Given the description of an element on the screen output the (x, y) to click on. 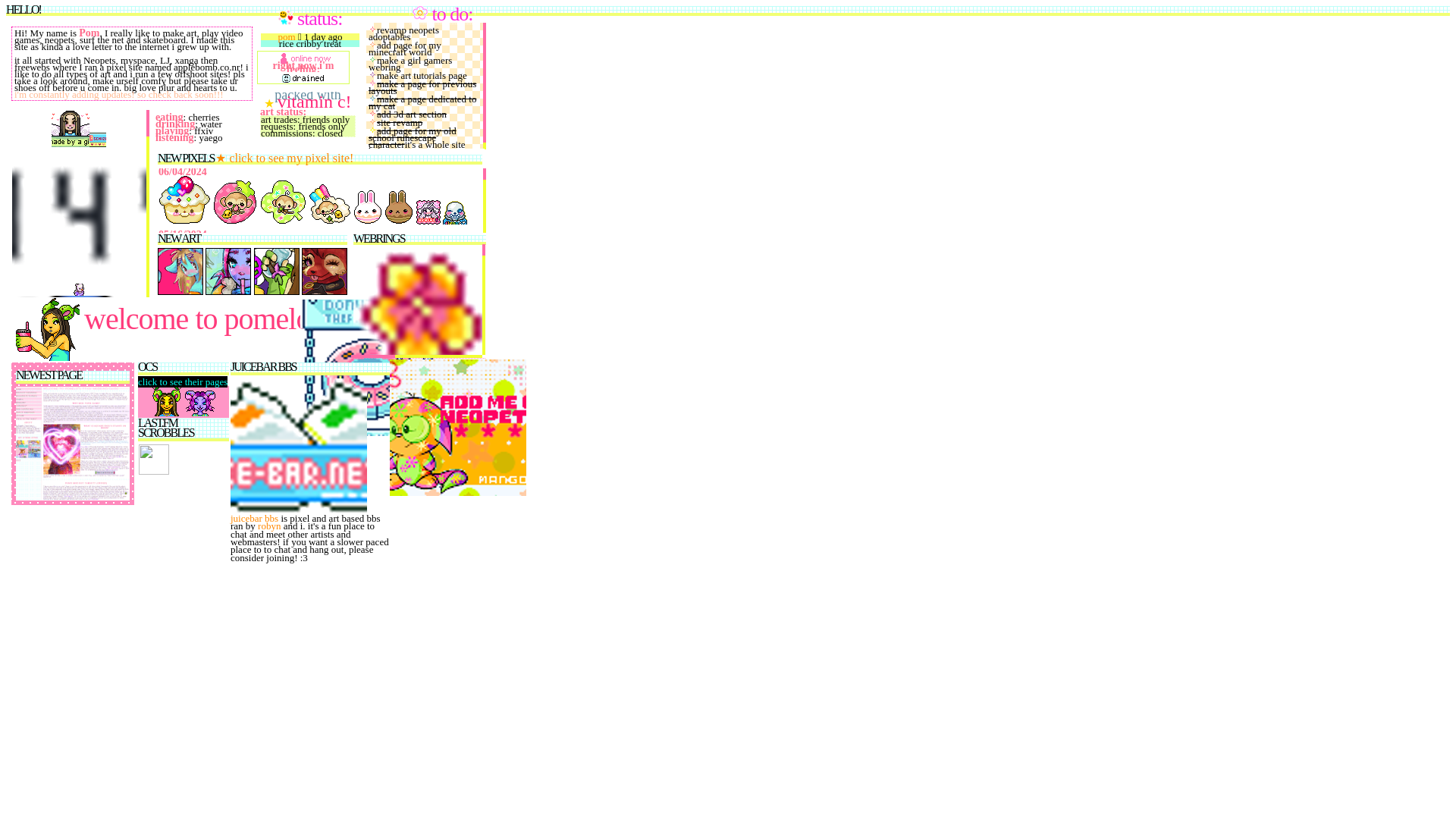
pastelhell (442, 585)
HARDMACHINE (389, 585)
Leilukin's Hub (416, 585)
pom (286, 36)
I Choose You! :: POKEMON (79, 428)
flowering (394, 386)
The Eggring (391, 576)
